Given the description of an element on the screen output the (x, y) to click on. 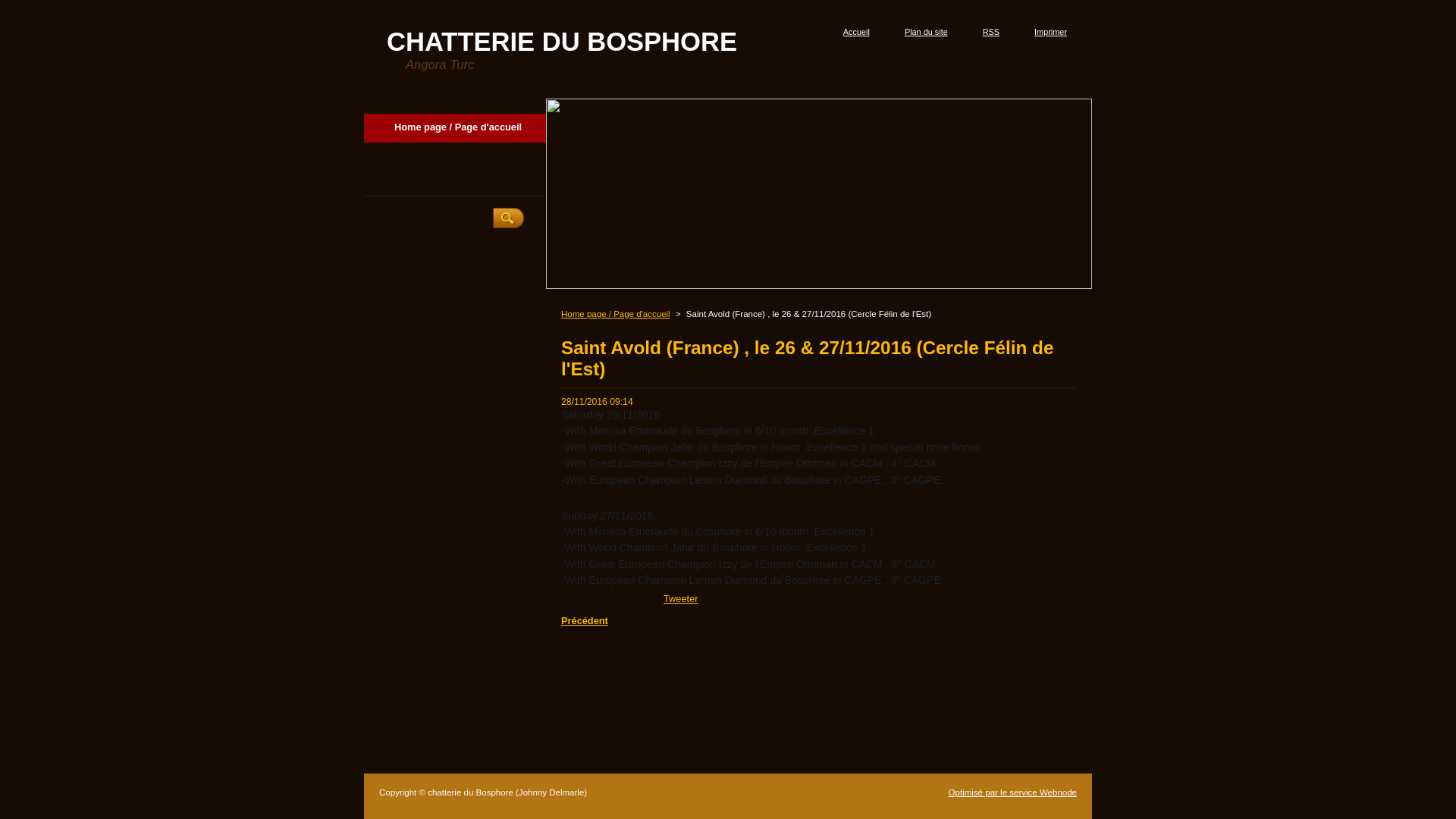
Plan du site Element type: text (920, 31)
Tweeter Element type: text (680, 598)
Accueil Element type: text (850, 31)
Home page / Page d'accueil Element type: text (615, 313)
CHATTERIE DU BOSPHORE Element type: text (561, 41)
RSS Element type: text (985, 31)
Home page / Page d'accueil Element type: text (454, 127)
Imprimer Element type: text (1044, 31)
Chercher Element type: hover (508, 217)
